Given the description of an element on the screen output the (x, y) to click on. 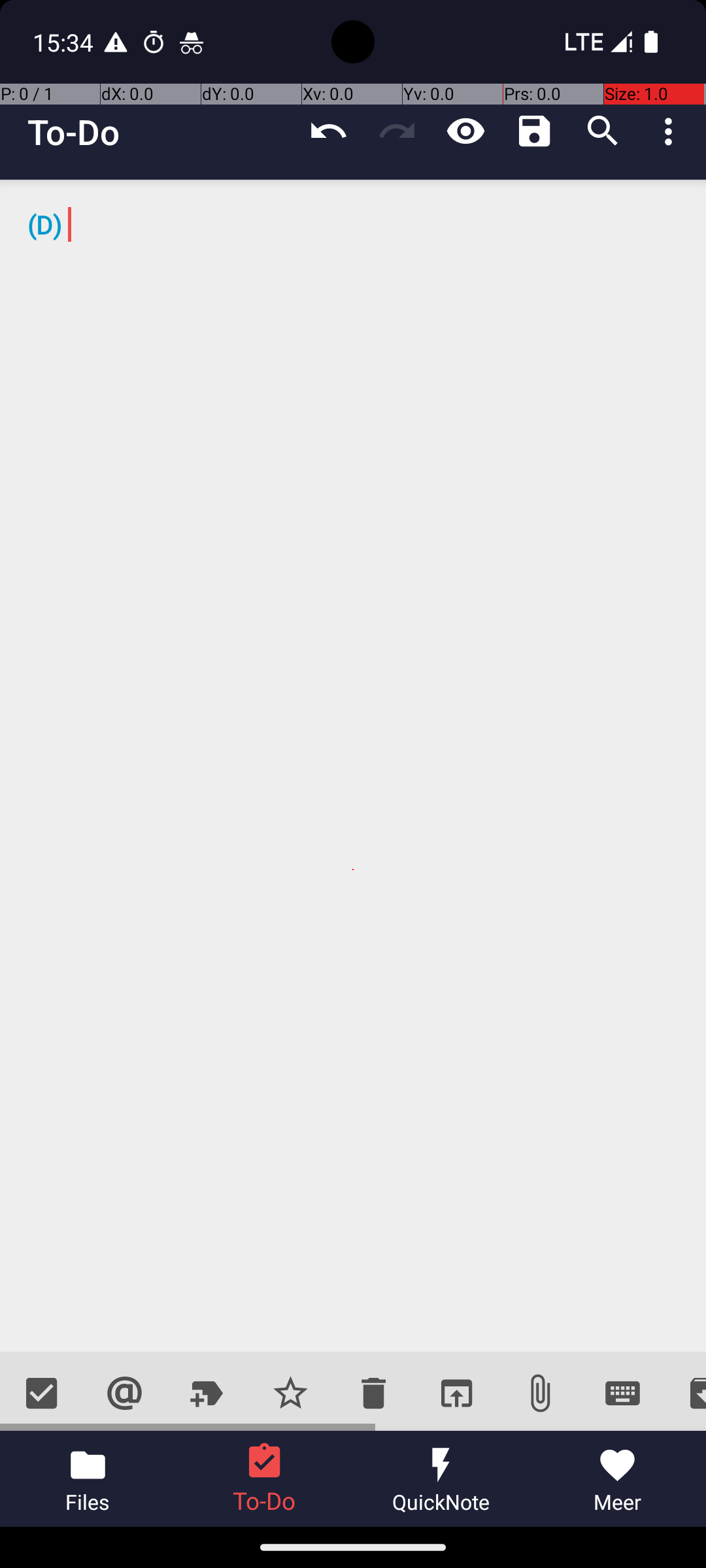
Soek Element type: android.widget.TextView (602, 131)
Meer opsies Element type: android.widget.ImageView (671, 131)
Meer Element type: android.widget.FrameLayout (617, 1478)
(D)  Element type: android.widget.EditText (353, 765)
Toggle done Element type: android.widget.ImageView (41, 1392)
Add context Element type: android.widget.ImageView (124, 1392)
Add project Element type: android.widget.ImageView (207, 1392)
Priority Element type: android.widget.ImageView (290, 1392)
Archive completed tasks Element type: android.widget.ImageView (685, 1392)
Chrome notification: Incognito Tabs Element type: android.widget.ImageView (191, 41)
